Given the description of an element on the screen output the (x, y) to click on. 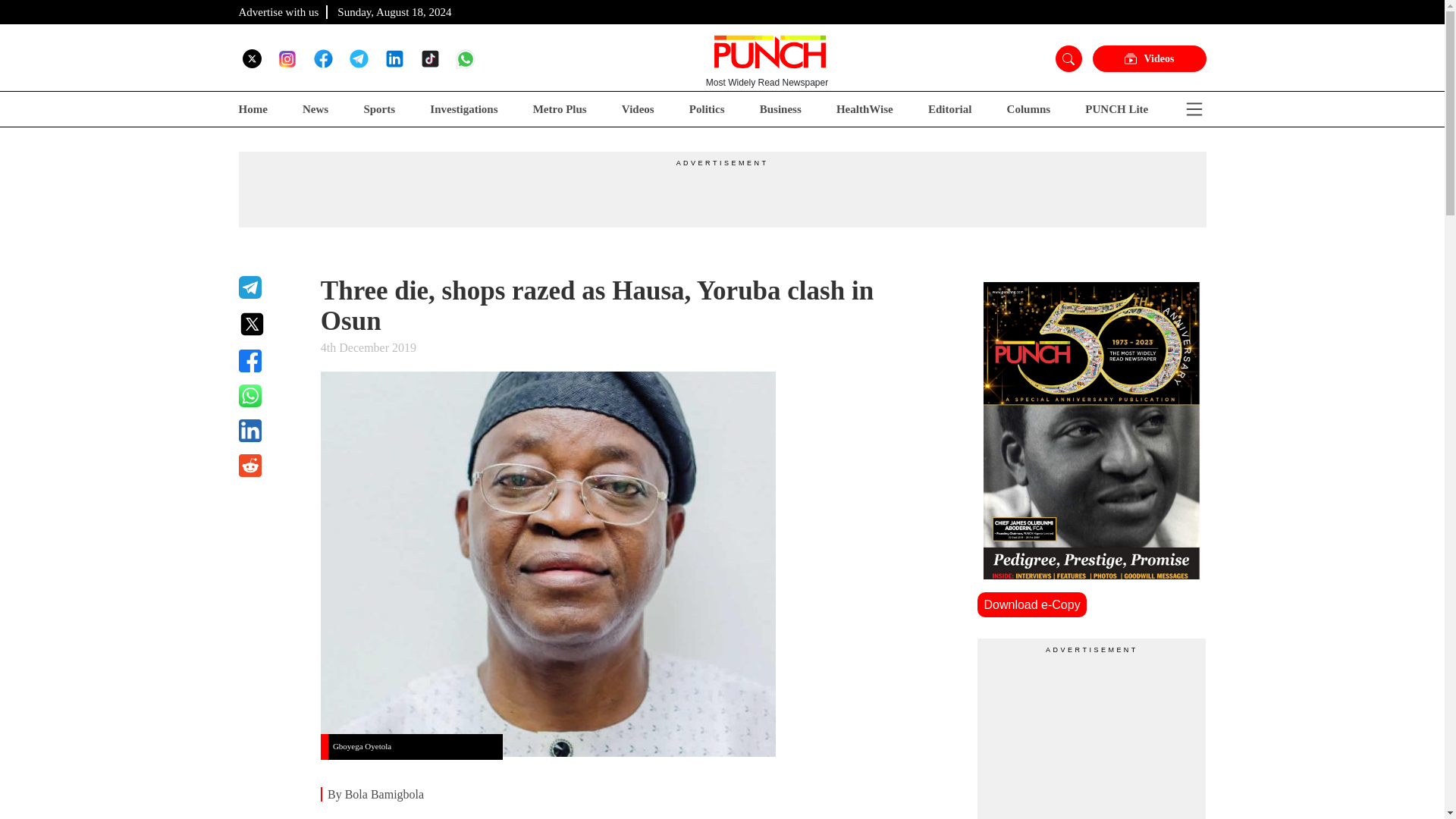
Politics (706, 109)
Follow us on Linkedin (395, 58)
Business (781, 109)
Follow Our Channel on Telegram (358, 58)
Share on Reddit (269, 465)
Home (252, 109)
Sunday, August 18, 2024 (394, 11)
Videos (637, 109)
Follow us on Tiktok (430, 58)
PUNCH Lite (1116, 109)
